Given the description of an element on the screen output the (x, y) to click on. 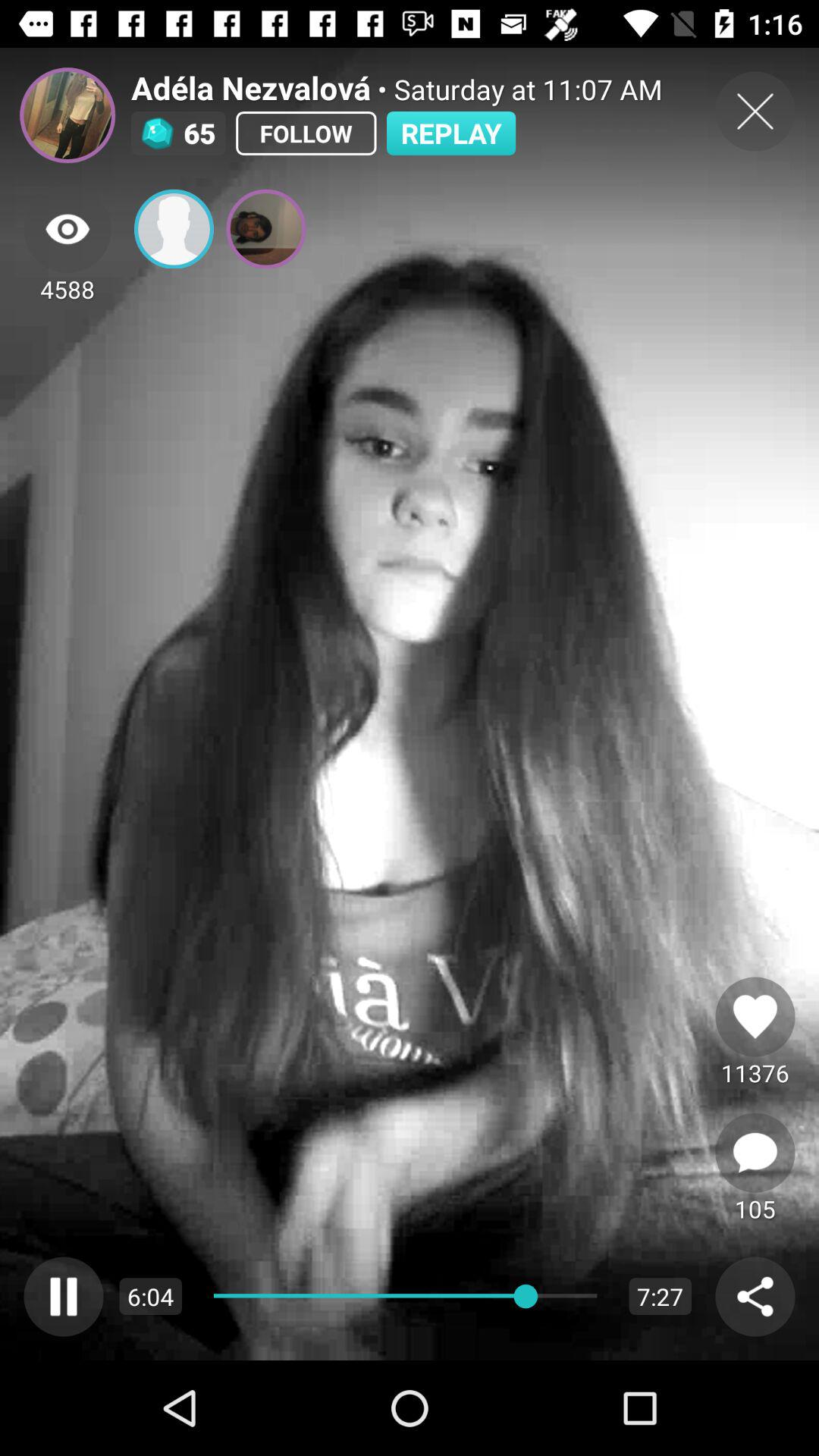
close window (755, 111)
